Given the description of an element on the screen output the (x, y) to click on. 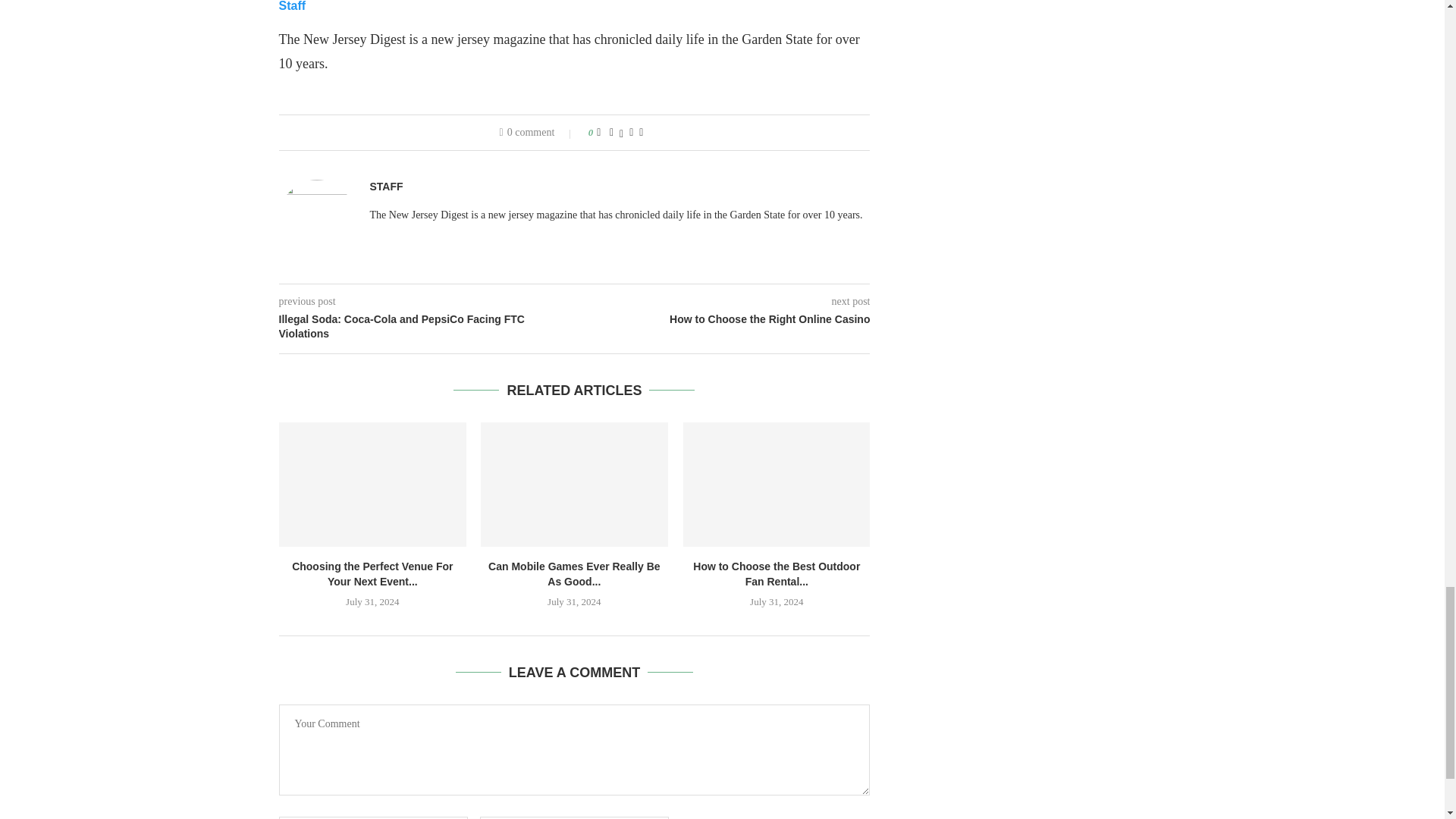
How to Choose the Best Outdoor Fan Rental for Your Event (776, 484)
Author Staff (386, 186)
Staff (292, 6)
Can Mobile Games Ever Really Be As Good As Video Games? (574, 484)
Choosing the Perfect Venue For Your Next Event in Chicago (372, 484)
